Given the description of an element on the screen output the (x, y) to click on. 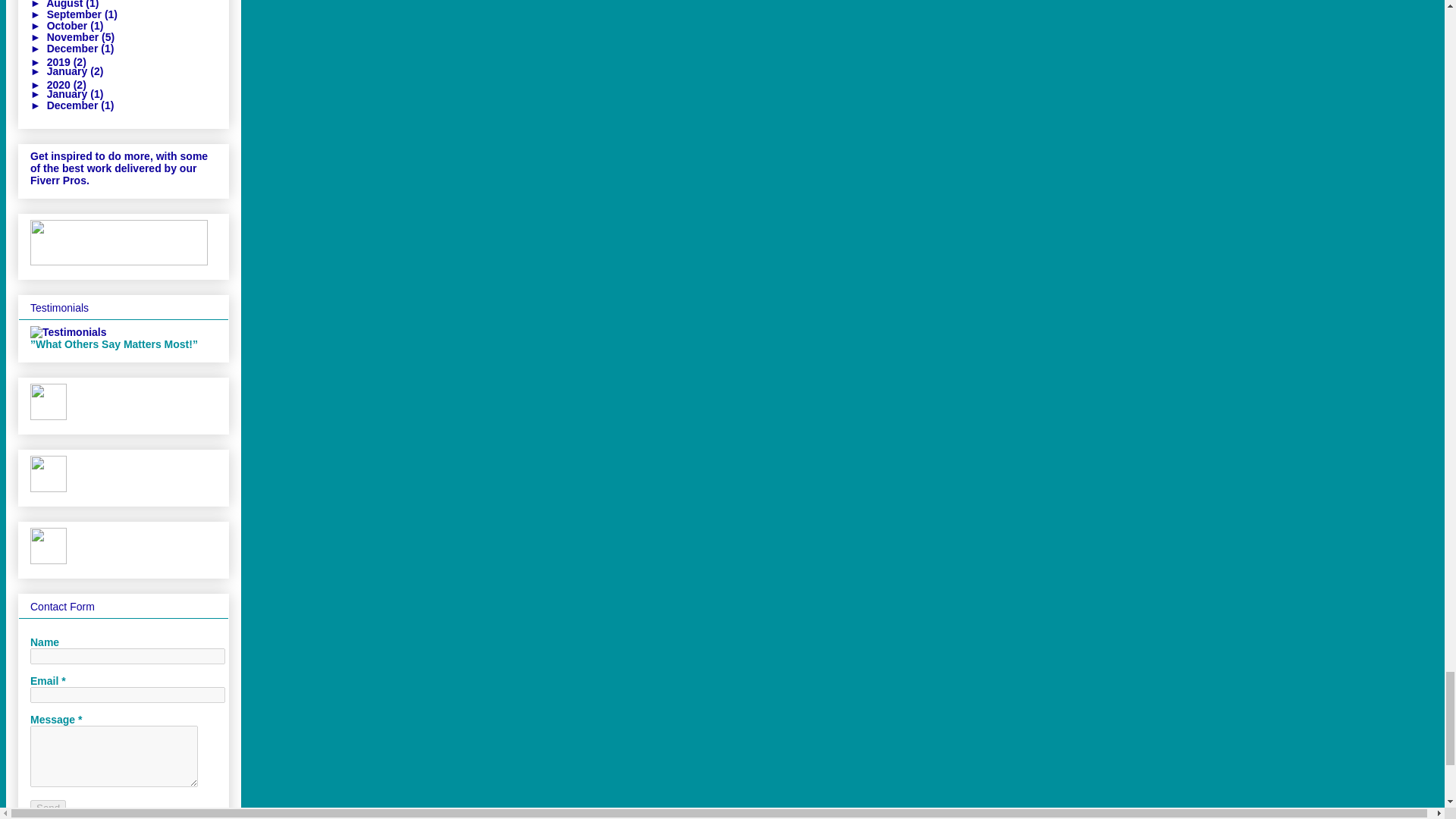
Send (47, 807)
